Given the description of an element on the screen output the (x, y) to click on. 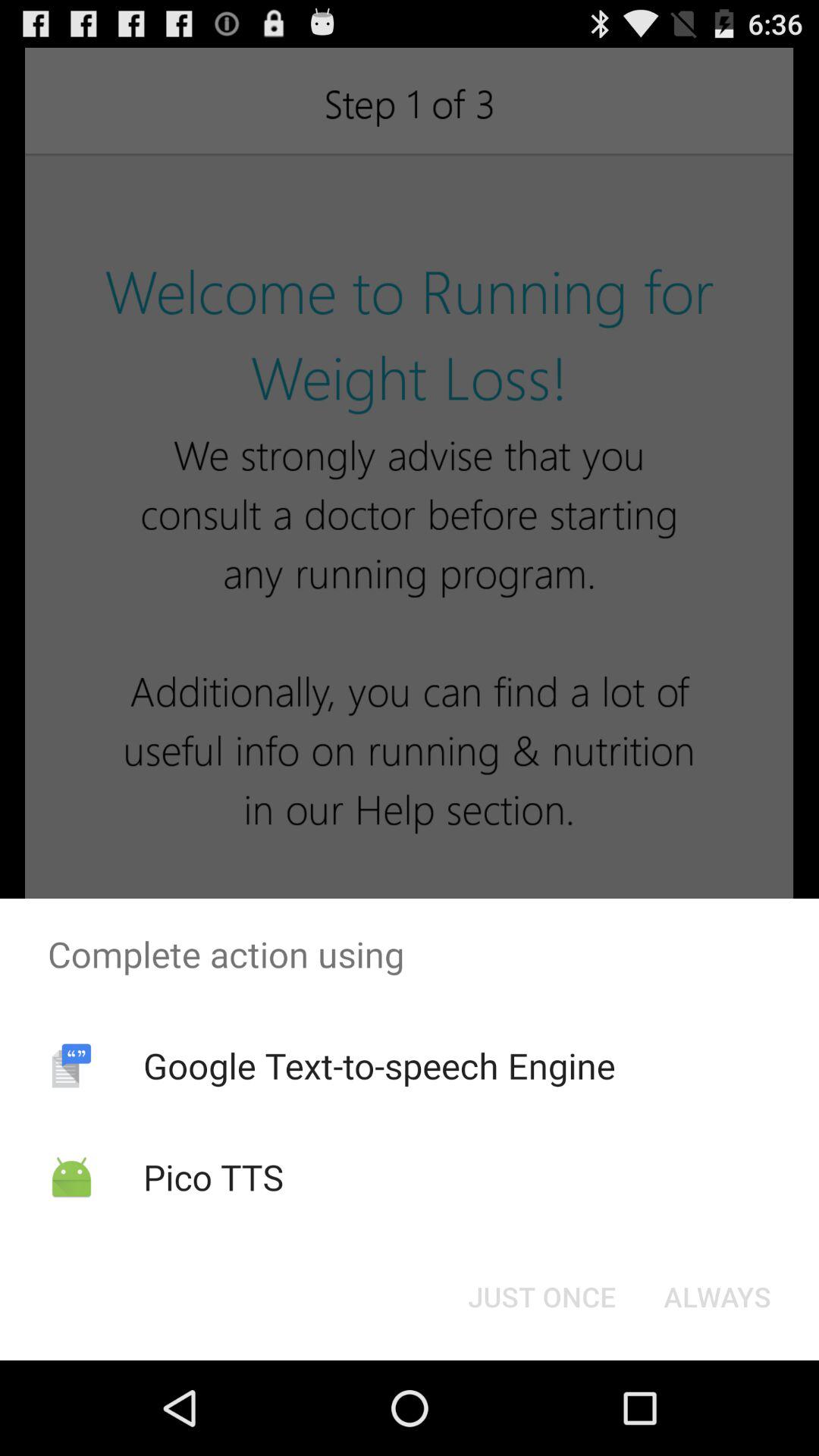
launch item to the right of just once item (717, 1296)
